Given the description of an element on the screen output the (x, y) to click on. 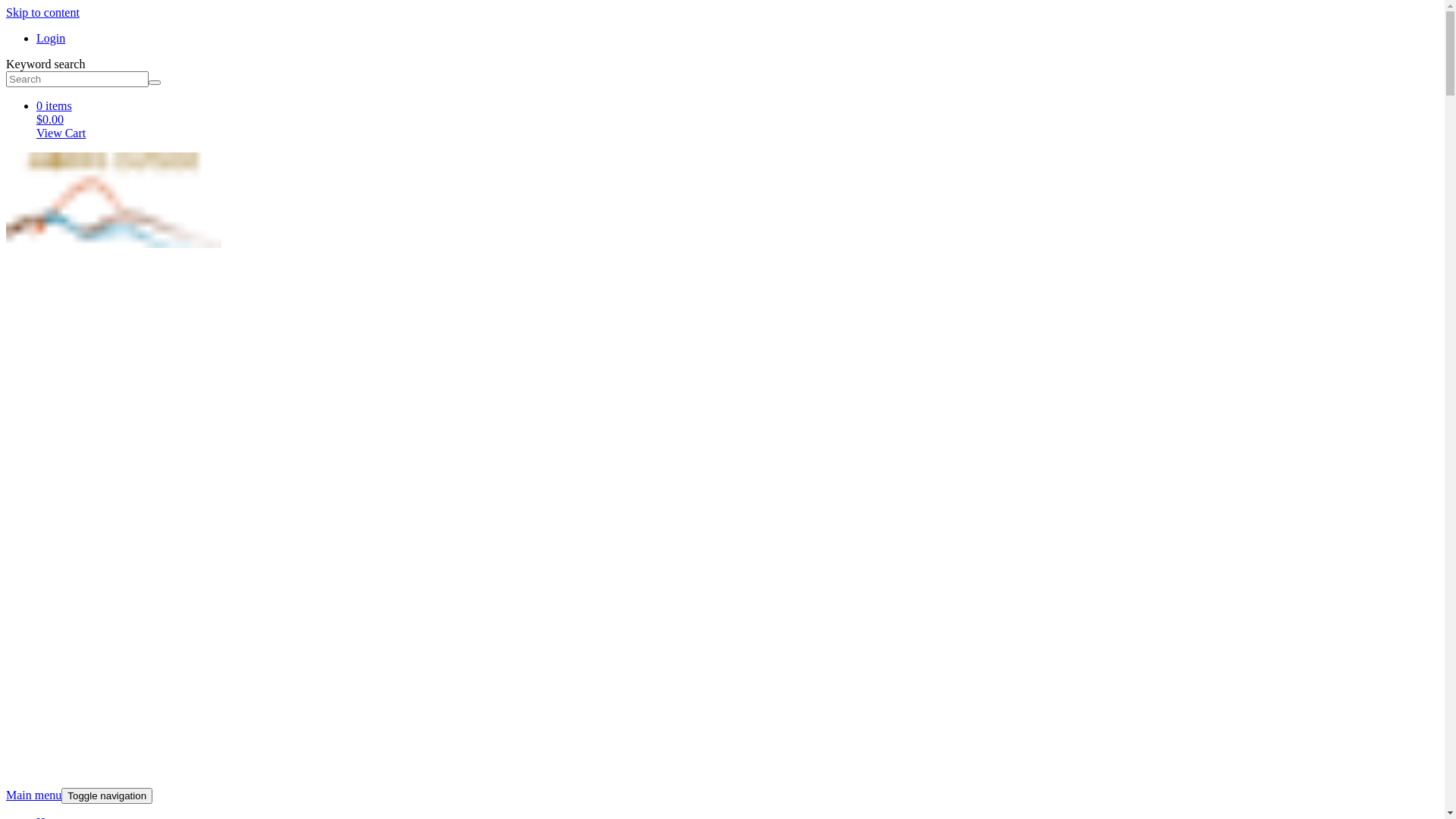
0 items
$0.00
View Cart Element type: text (737, 119)
Toggle navigation Element type: text (106, 795)
Skip to content Element type: text (42, 12)
Login Element type: text (50, 37)
Main menu Element type: text (33, 794)
